Given the description of an element on the screen output the (x, y) to click on. 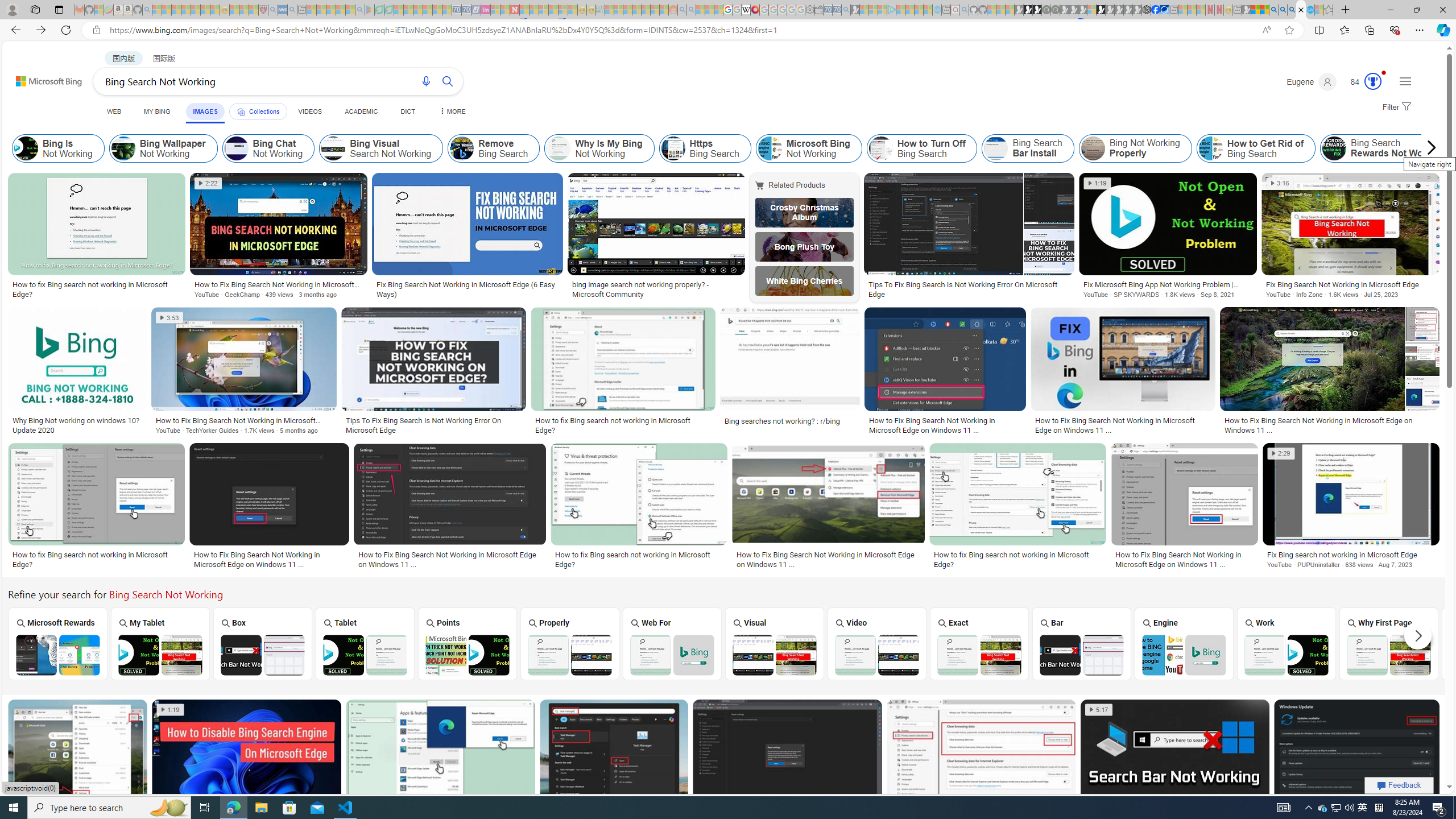
DICT (407, 111)
Fix Bing Search Not Working In Microsoft Edge (1350, 284)
Trusted Community Engagement and Contributions | Guidelines (524, 9)
Why Bing Not working on windows 10? Update 2020 (77, 425)
Fix Bing Search Not Working in Microsoft Edge (6 Easy Ways) (468, 289)
3:53 (169, 317)
3:16 (1280, 183)
Crosby Christmas Album (804, 212)
Bing searches not working? : r/bing (790, 420)
IMAGES (205, 111)
